Given the description of an element on the screen output the (x, y) to click on. 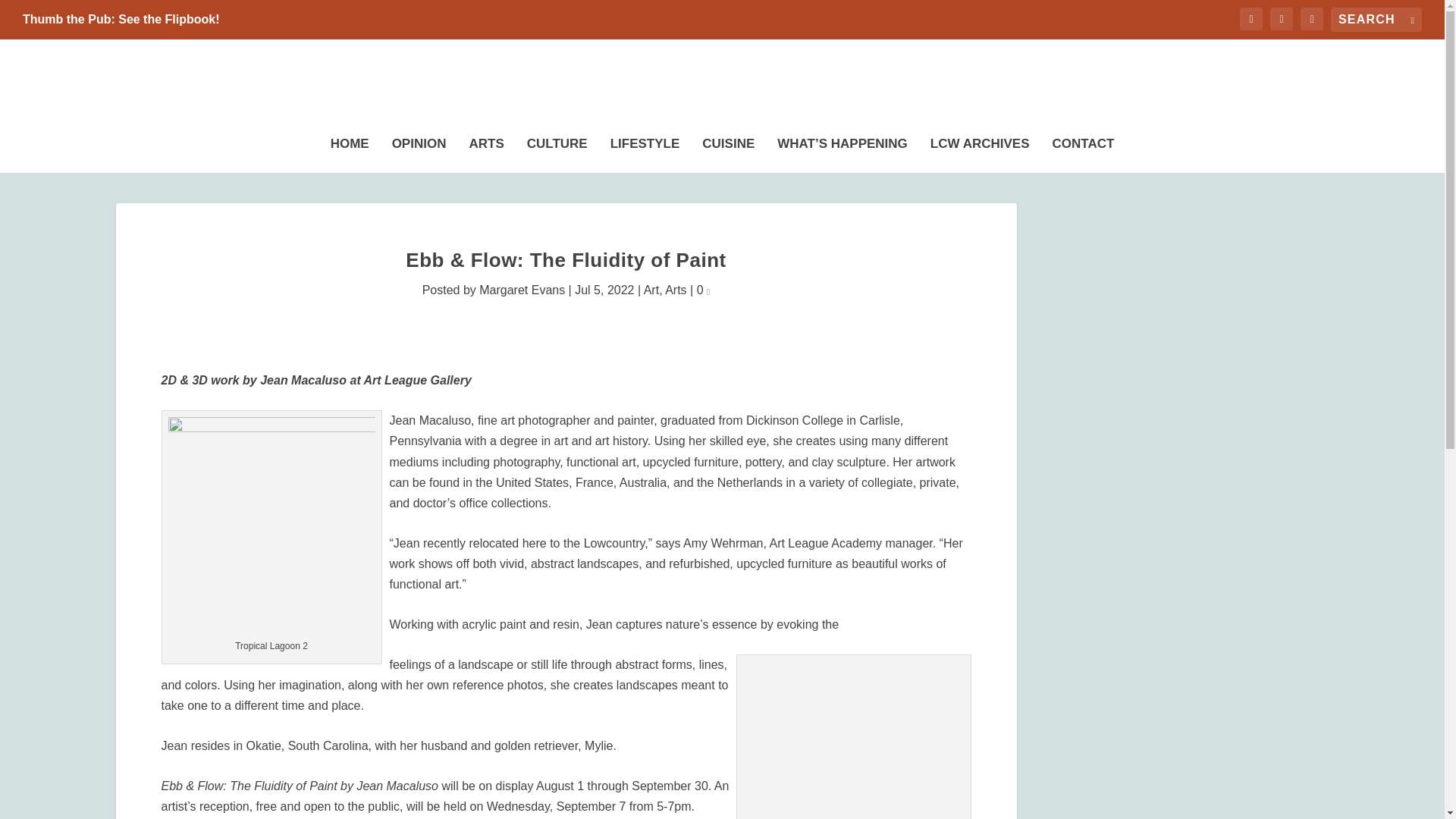
CUISINE (727, 151)
Art (651, 289)
HOME (349, 151)
OPINION (418, 151)
LIFESTYLE (644, 151)
CONTACT (1083, 151)
CULTURE (557, 151)
LCW ARCHIVES (979, 151)
Arts (675, 289)
Thumb the Pub: See the Flipbook! (121, 19)
Search for: (1376, 19)
Posts by Margaret Evans (521, 289)
0 (703, 289)
Margaret Evans (521, 289)
